Given the description of an element on the screen output the (x, y) to click on. 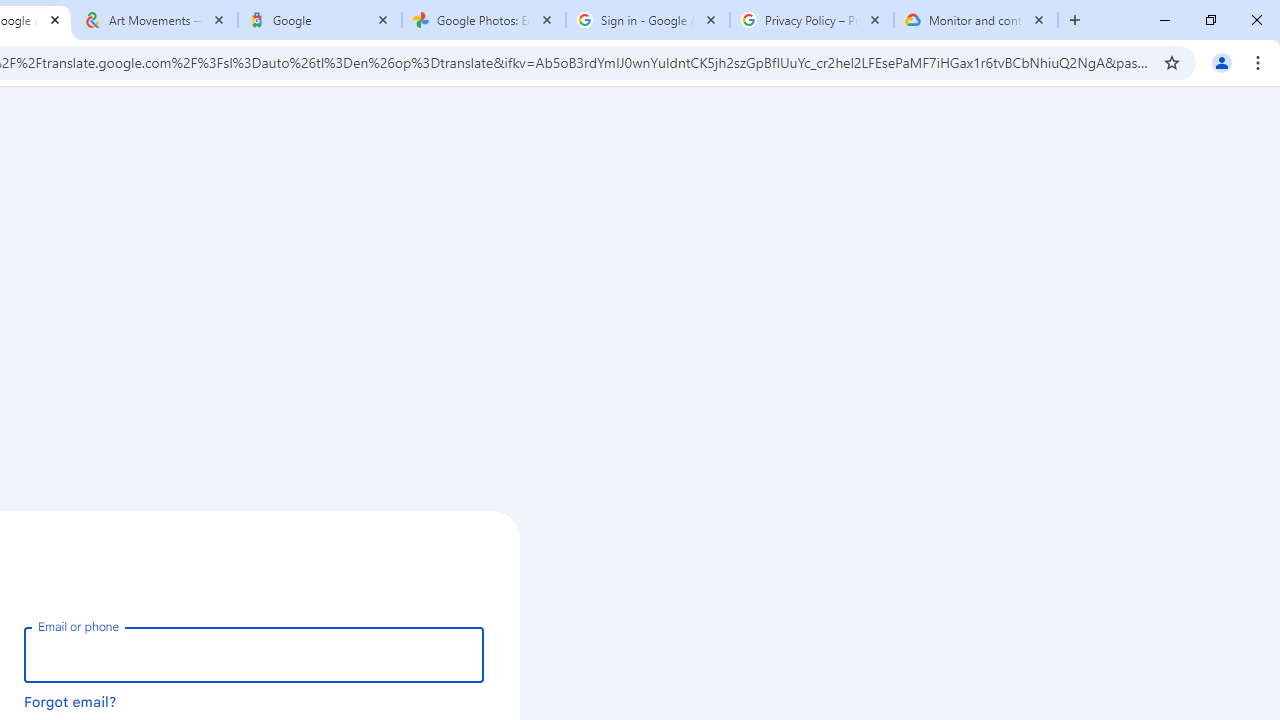
Google (319, 20)
Email or phone (253, 654)
Forgot email? (70, 701)
Sign in - Google Accounts (647, 20)
